Given the description of an element on the screen output the (x, y) to click on. 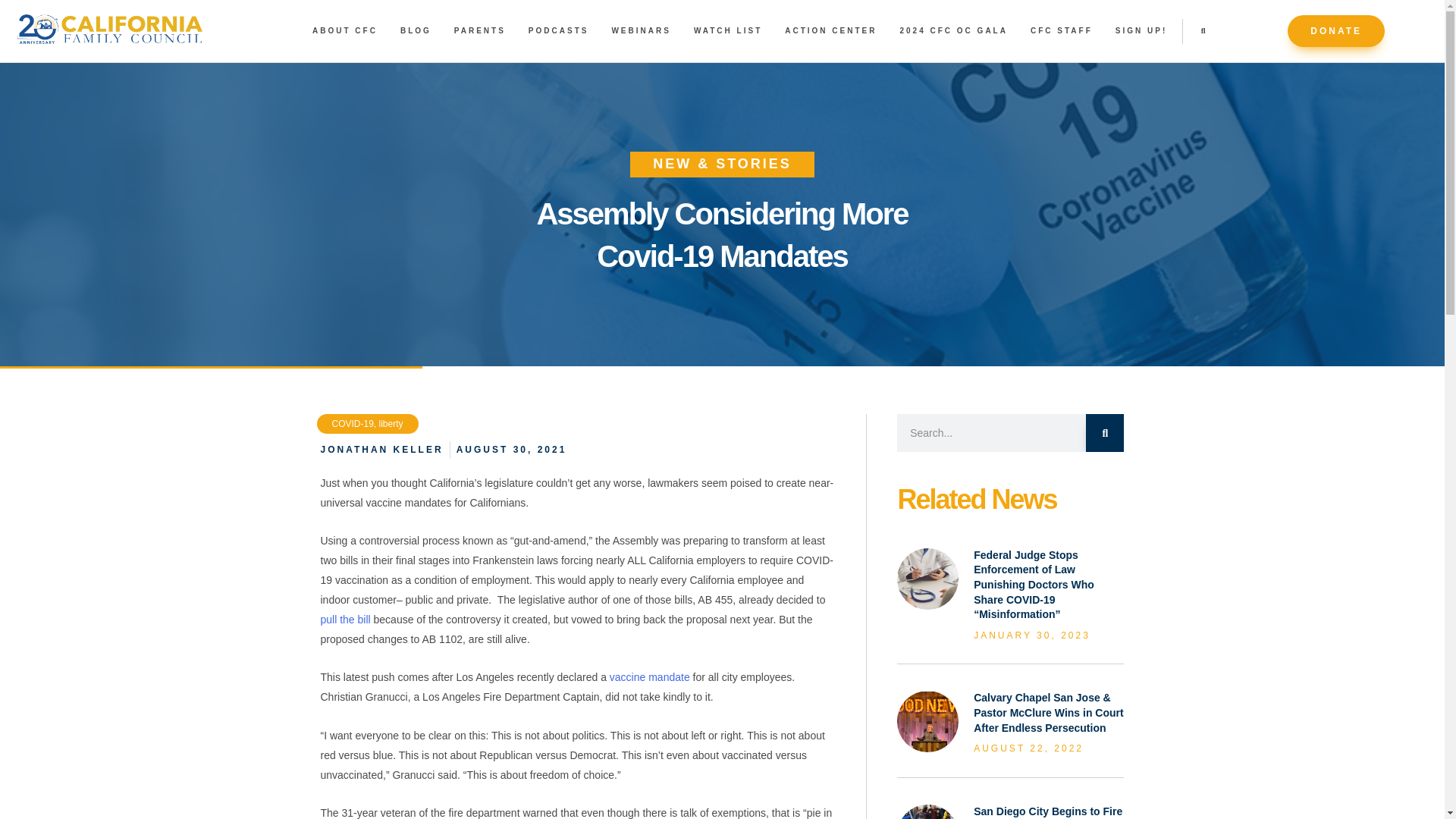
ACTION CENTER (830, 30)
BLOG (415, 30)
WEBINARS (640, 30)
WATCH LIST (727, 30)
PARENTS (479, 30)
SIGN UP! (1140, 30)
AUGUST 30, 2021 (512, 449)
DONATE (1335, 30)
COVID-19 (352, 423)
JONATHAN KELLER (381, 449)
pull the bill (346, 619)
San Diego Blog - California Family Council (927, 811)
liberty (390, 423)
vaccine mandate (648, 676)
PODCASTS (557, 30)
